Given the description of an element on the screen output the (x, y) to click on. 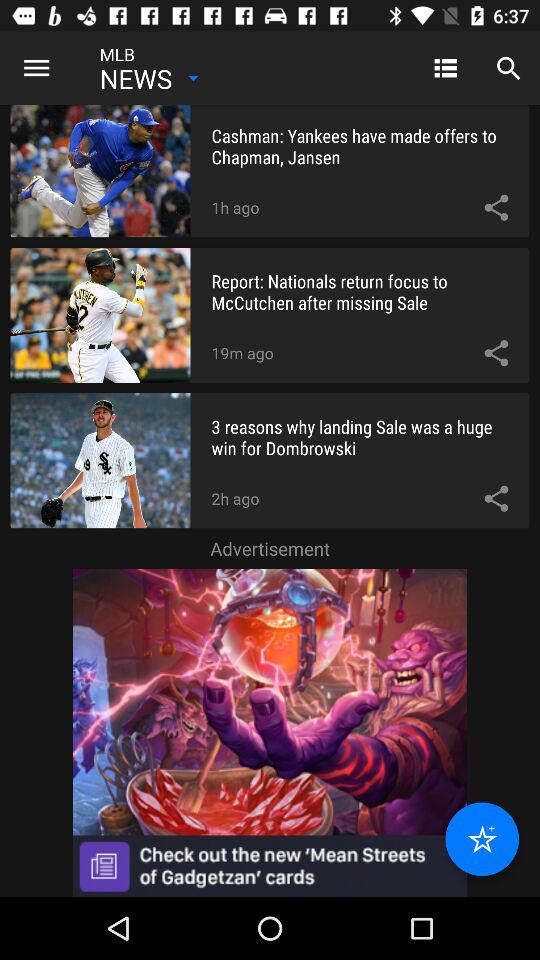
click advertisement (269, 732)
